Given the description of an element on the screen output the (x, y) to click on. 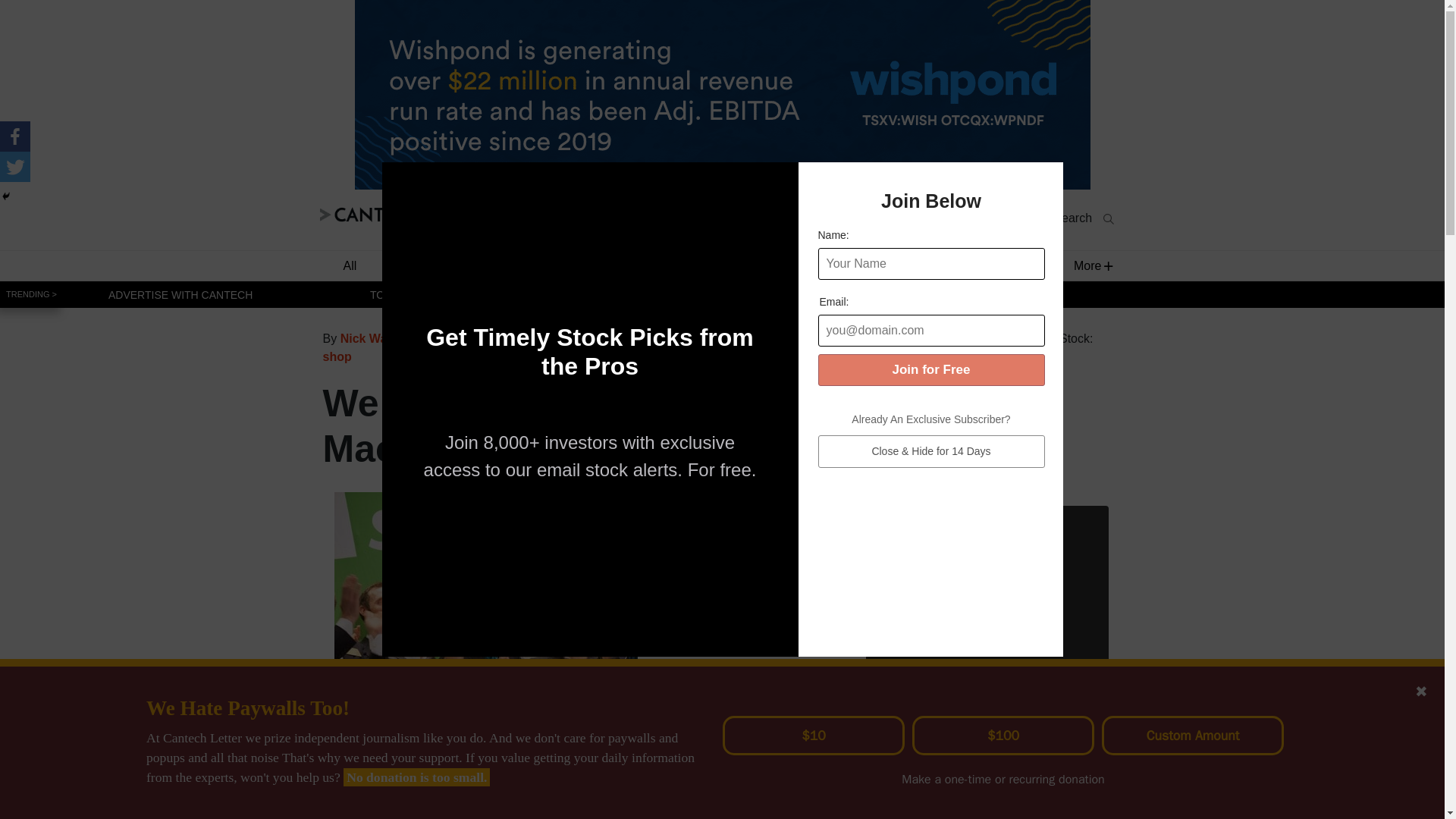
Search (1083, 217)
shop (337, 356)
Life Sciences (711, 265)
More (1087, 265)
Facebook (15, 136)
Analysts (1006, 265)
All (349, 265)
Software (425, 265)
All posts (944, 338)
Hide (5, 196)
Cleantech (909, 265)
Analysts (1001, 338)
Fintech (611, 265)
TOP PICKS (397, 294)
ADVERTISE WITH CANTECH (180, 294)
